Given the description of an element on the screen output the (x, y) to click on. 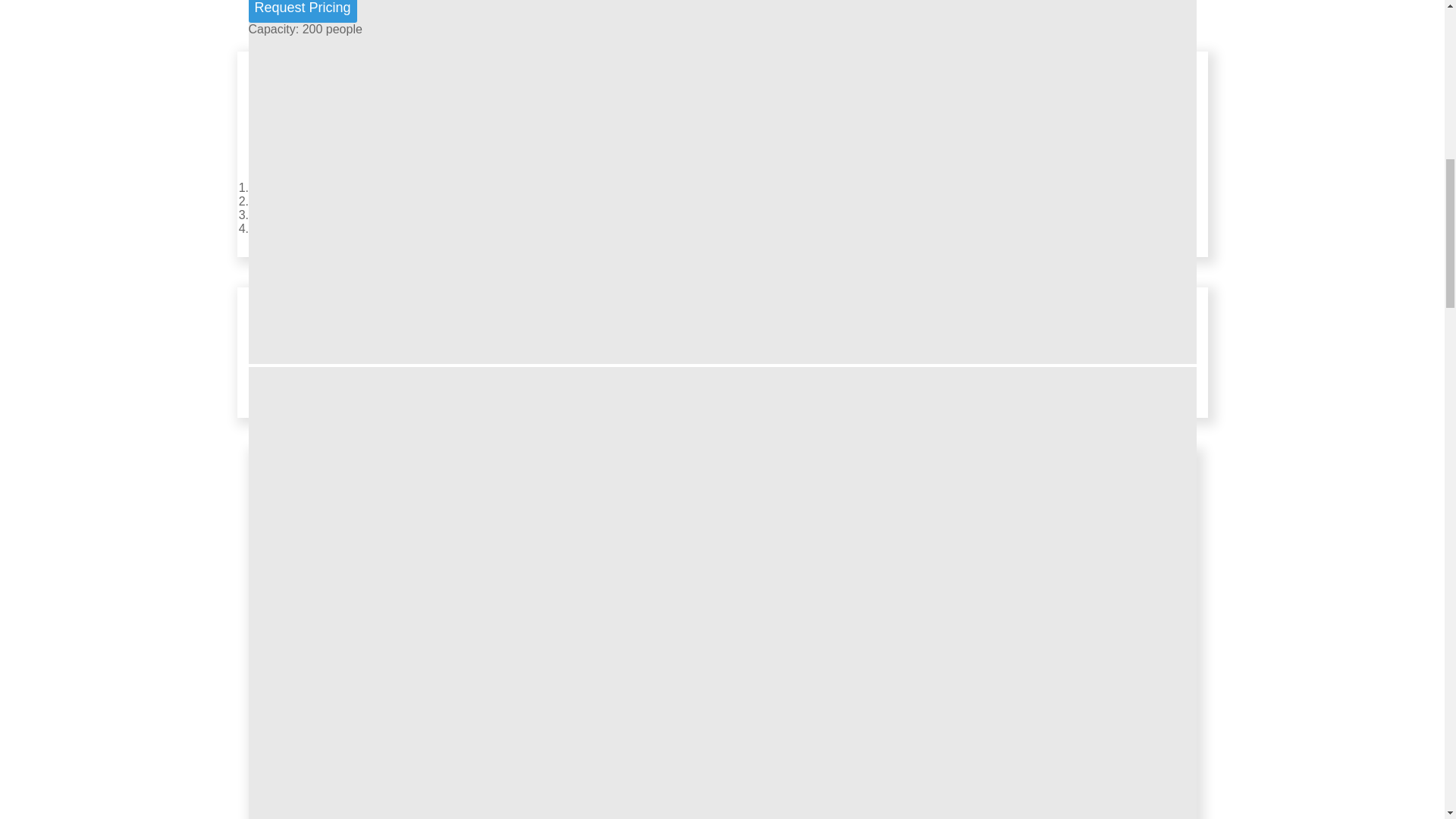
Request Pricing (302, 11)
Facebook (277, 201)
Website (273, 187)
Request Pricing (302, 11)
Write A Recommendation (319, 228)
Instagram (278, 214)
